Given the description of an element on the screen output the (x, y) to click on. 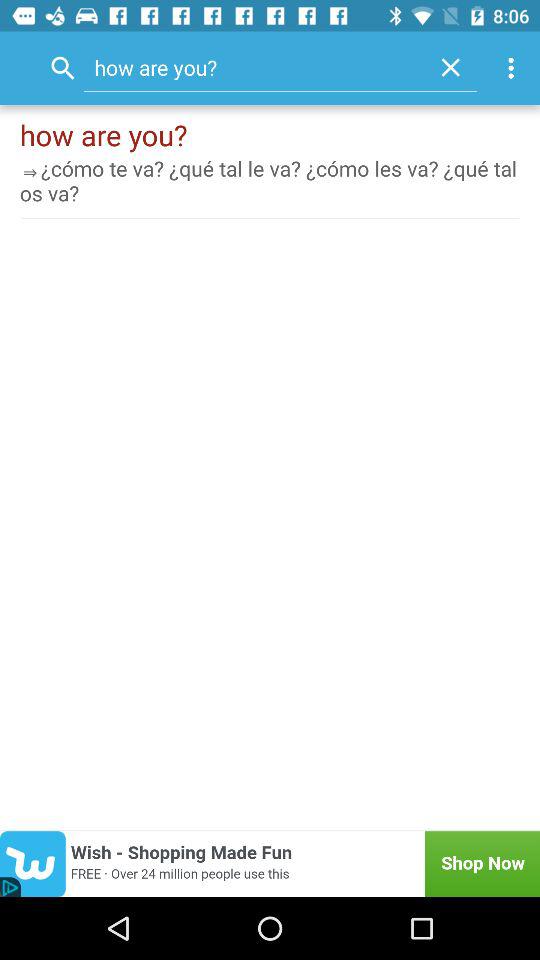
open your wish app (270, 864)
